Given the description of an element on the screen output the (x, y) to click on. 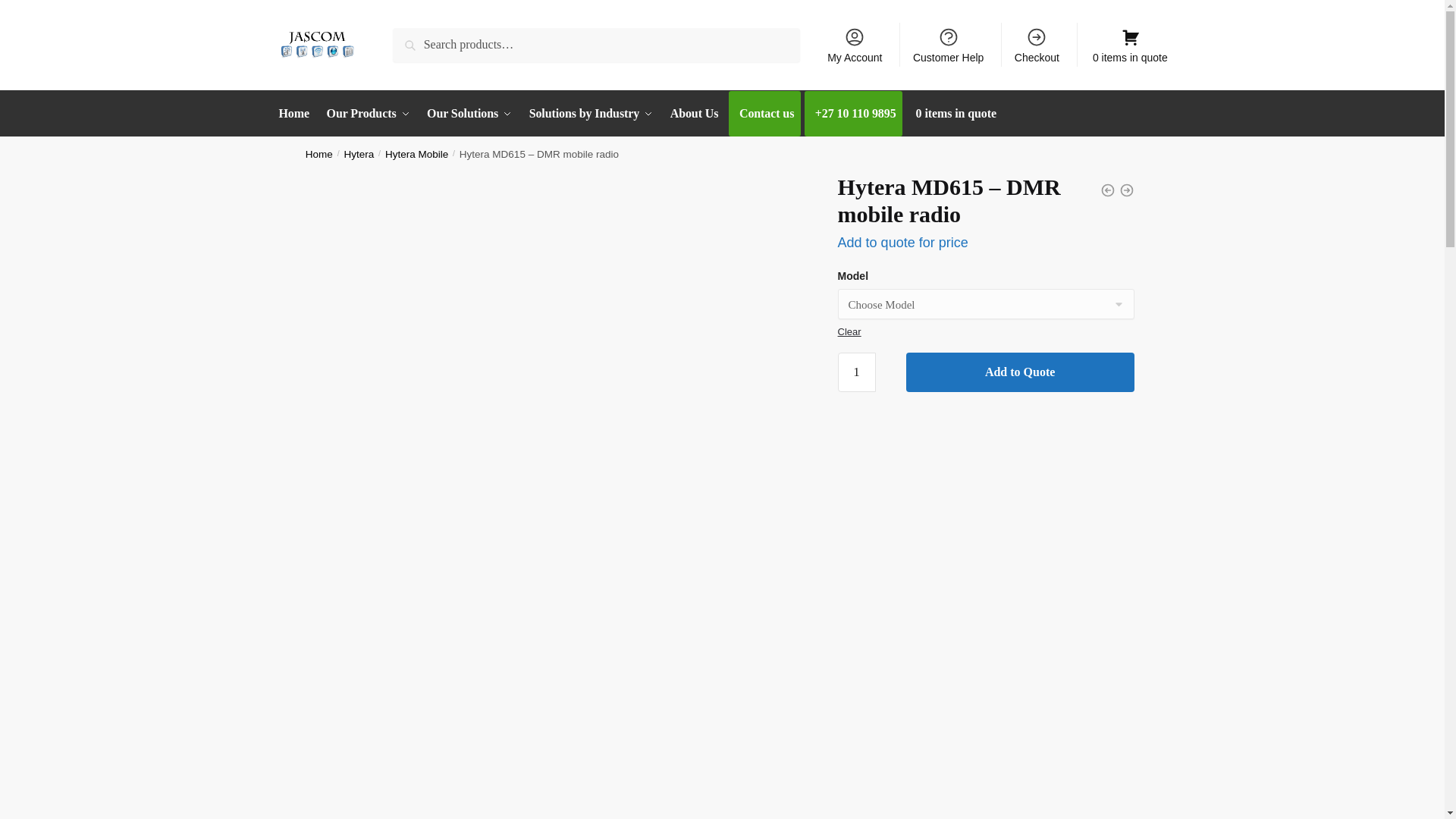
0 items in quote (1128, 35)
1 (857, 372)
Checkout (1037, 44)
Our Products (368, 113)
View Quote (1128, 35)
My Account (854, 44)
Customer Help (948, 44)
Search (414, 38)
